Given the description of an element on the screen output the (x, y) to click on. 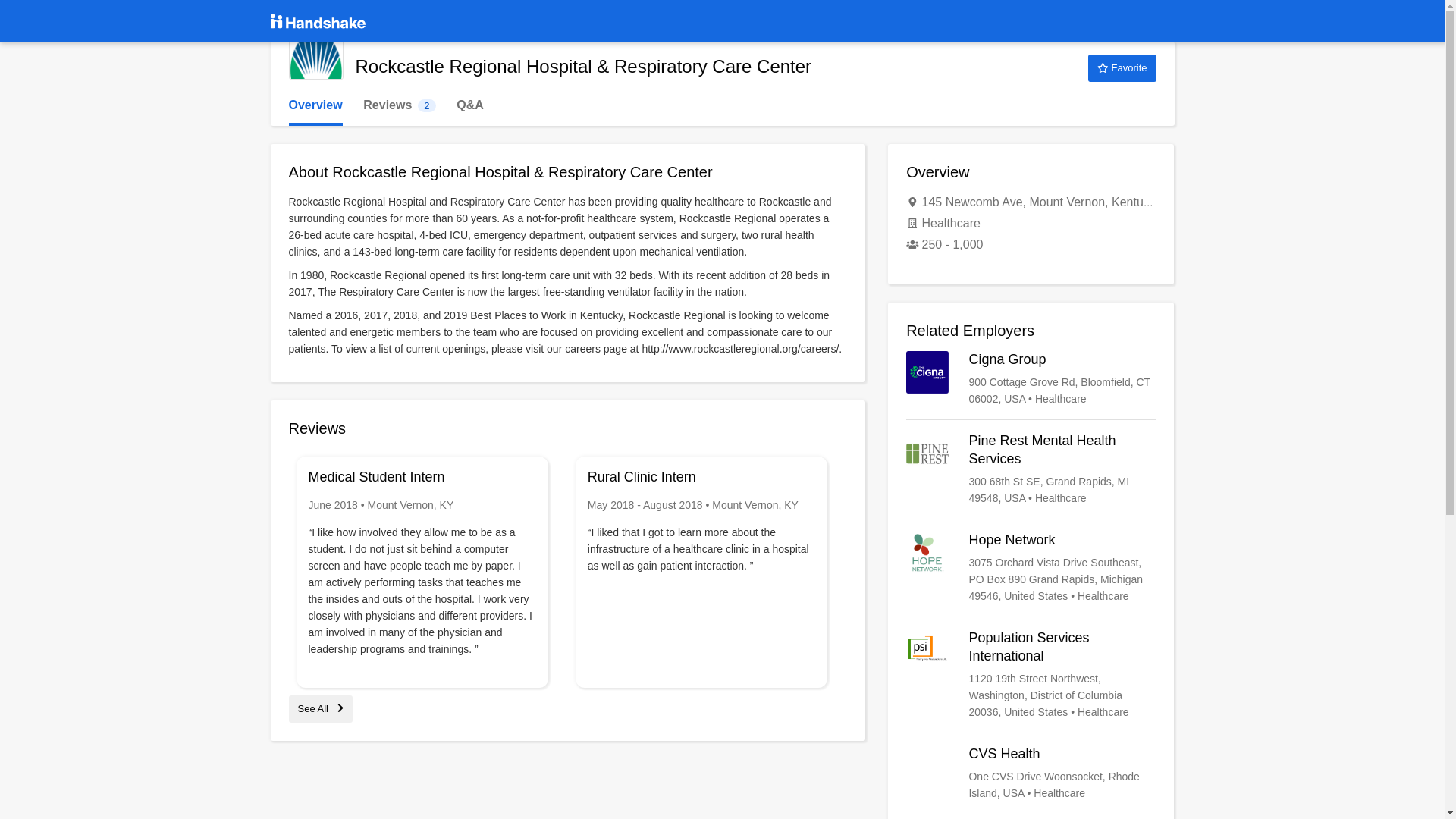
Cigna Group (1030, 379)
Pine Rest Mental Health Services (1030, 469)
Population Services International (1030, 674)
See All (320, 708)
Favorite (1121, 67)
Overview (315, 105)
CVS Health (398, 105)
Hope Network (1030, 773)
